Given the description of an element on the screen output the (x, y) to click on. 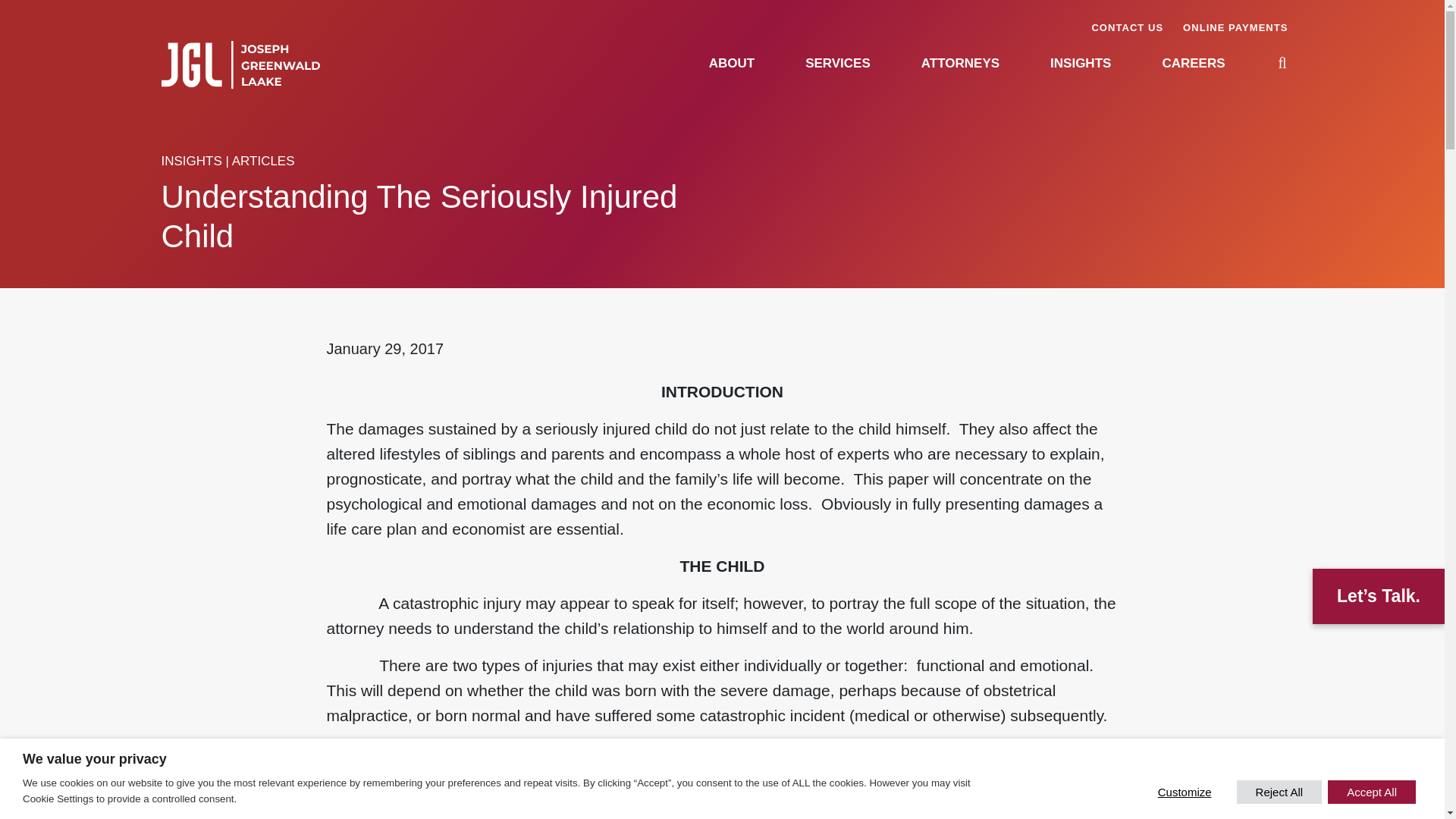
CAREERS (1192, 63)
CONTACT US (1126, 27)
ONLINE PAYMENTS (1234, 27)
ATTORNEYS (959, 63)
INSIGHTS (1079, 63)
ARTICLES (263, 160)
ABOUT (731, 63)
SERVICES (837, 63)
